Given the description of an element on the screen output the (x, y) to click on. 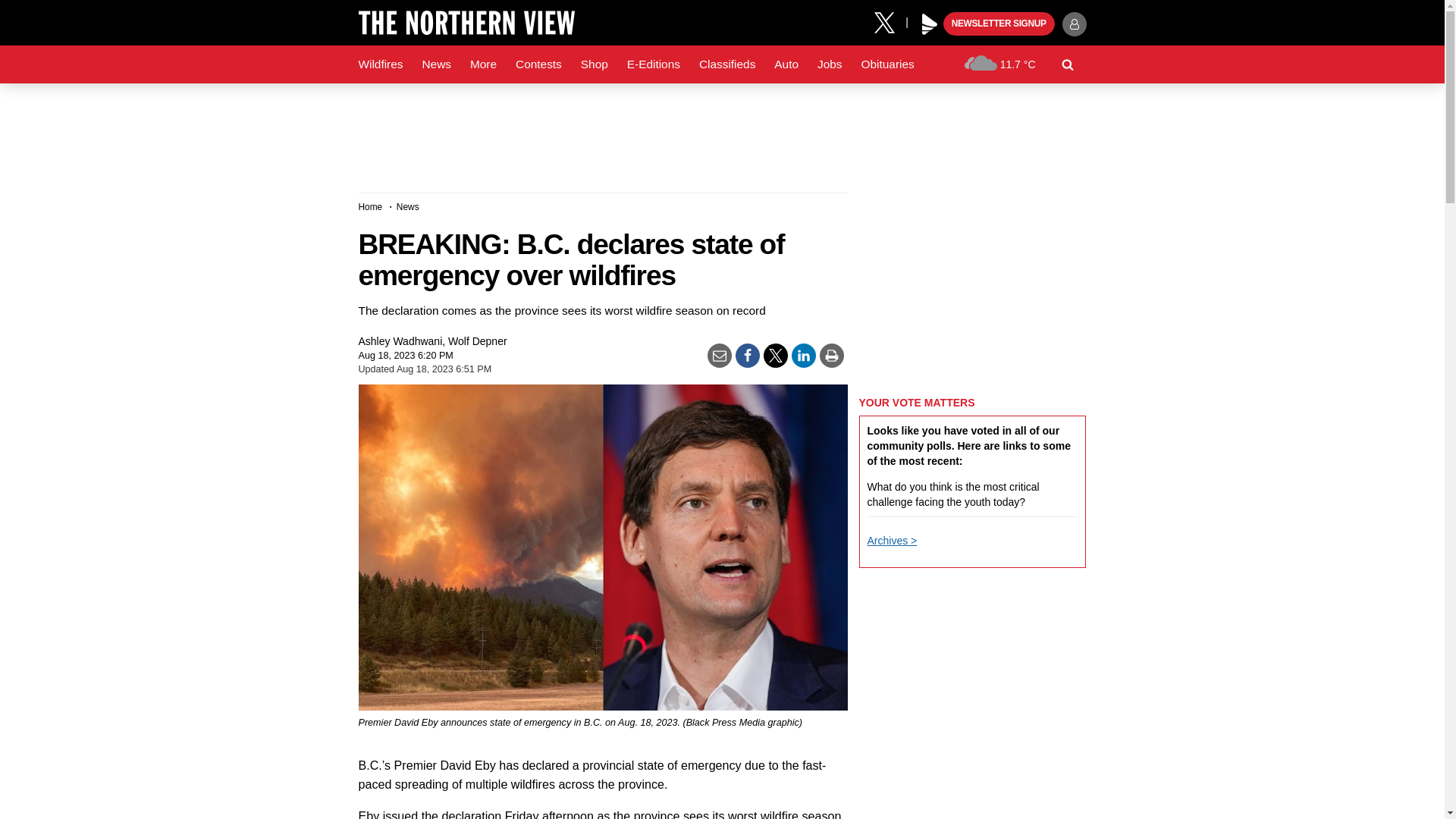
X (889, 21)
Black Press Media (929, 24)
Wildfires (380, 64)
Play (929, 24)
News (435, 64)
NEWSLETTER SIGNUP (998, 24)
